Given the description of an element on the screen output the (x, y) to click on. 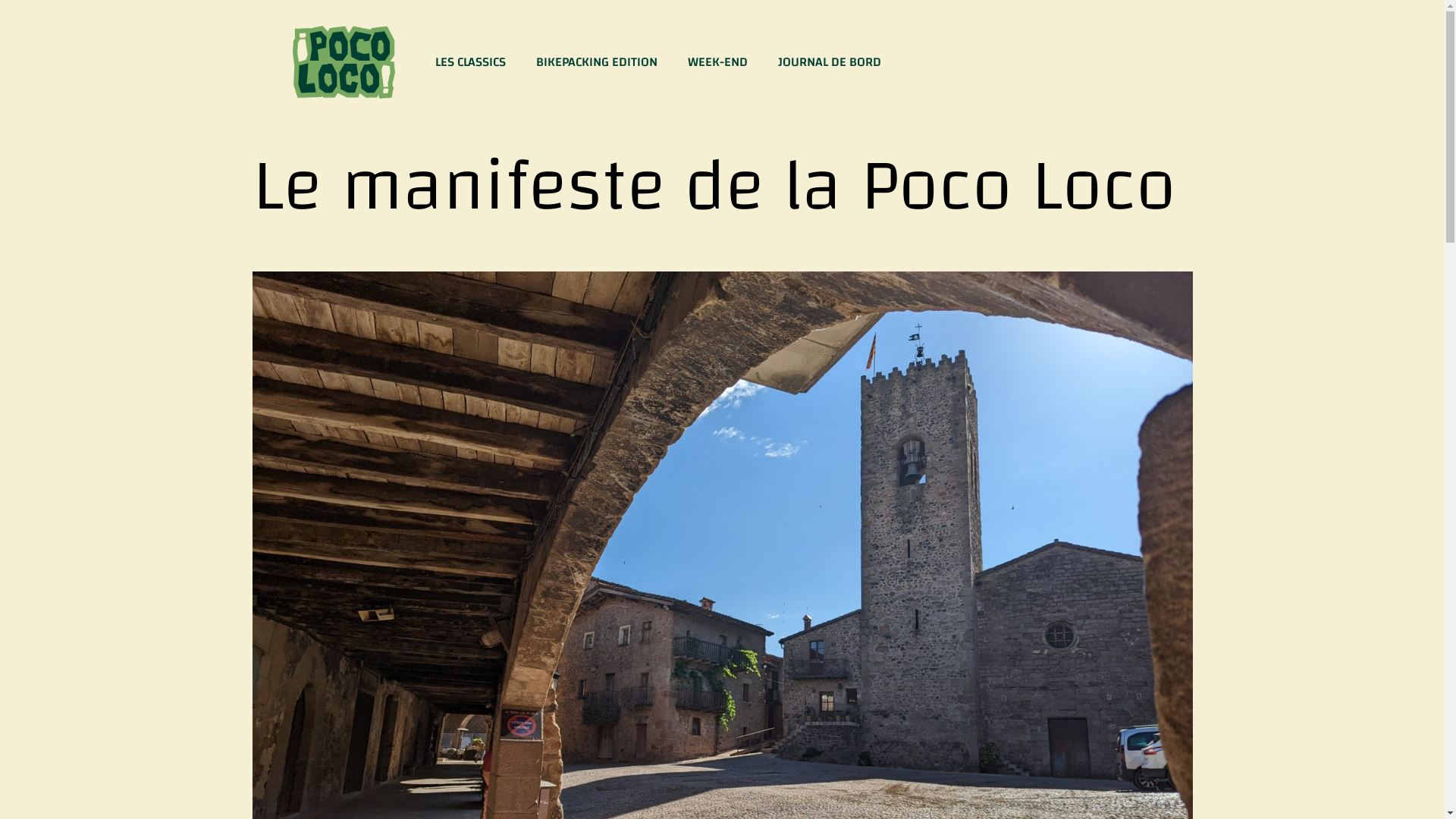
WEEK-END Element type: text (717, 61)
BIKEPACKING EDITION Element type: text (596, 61)
LES CLASSICS Element type: text (470, 61)
JOURNAL DE BORD Element type: text (829, 61)
